Given the description of an element on the screen output the (x, y) to click on. 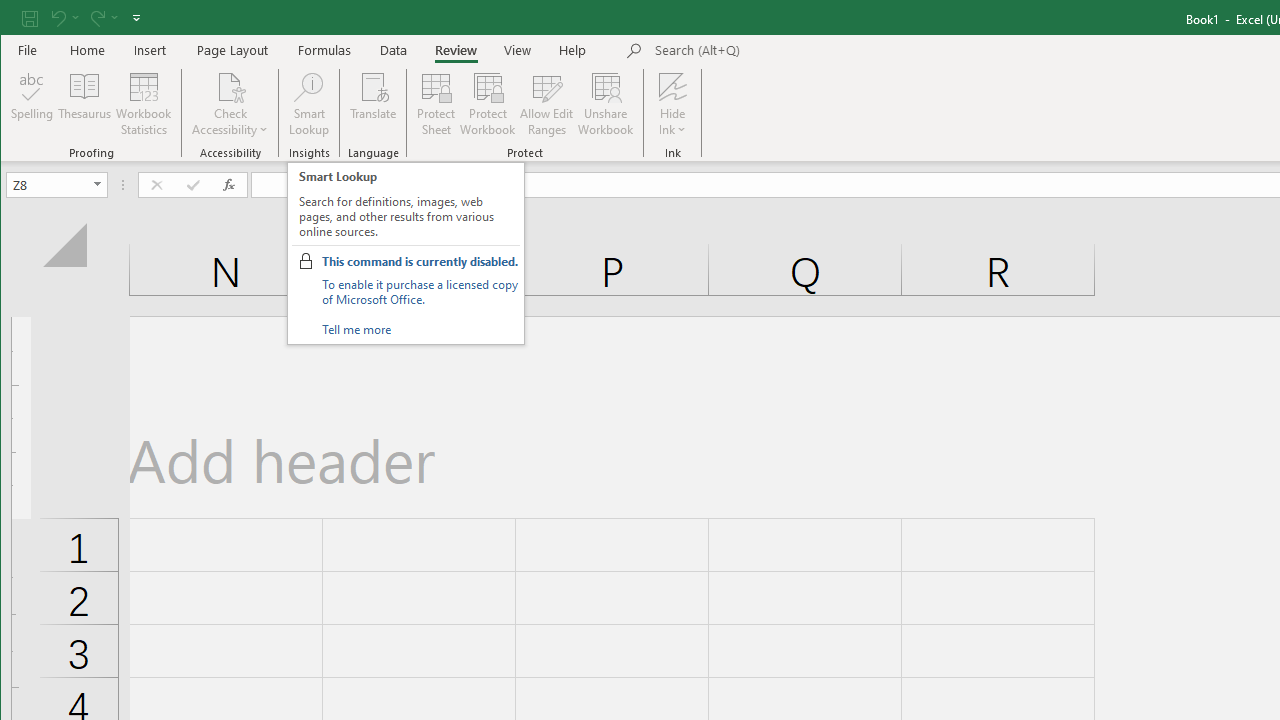
Spelling... (32, 104)
Hide Ink (672, 104)
Unshare Workbook (606, 104)
Smart Lookup (308, 104)
Allow Edit Ranges (547, 104)
